Given the description of an element on the screen output the (x, y) to click on. 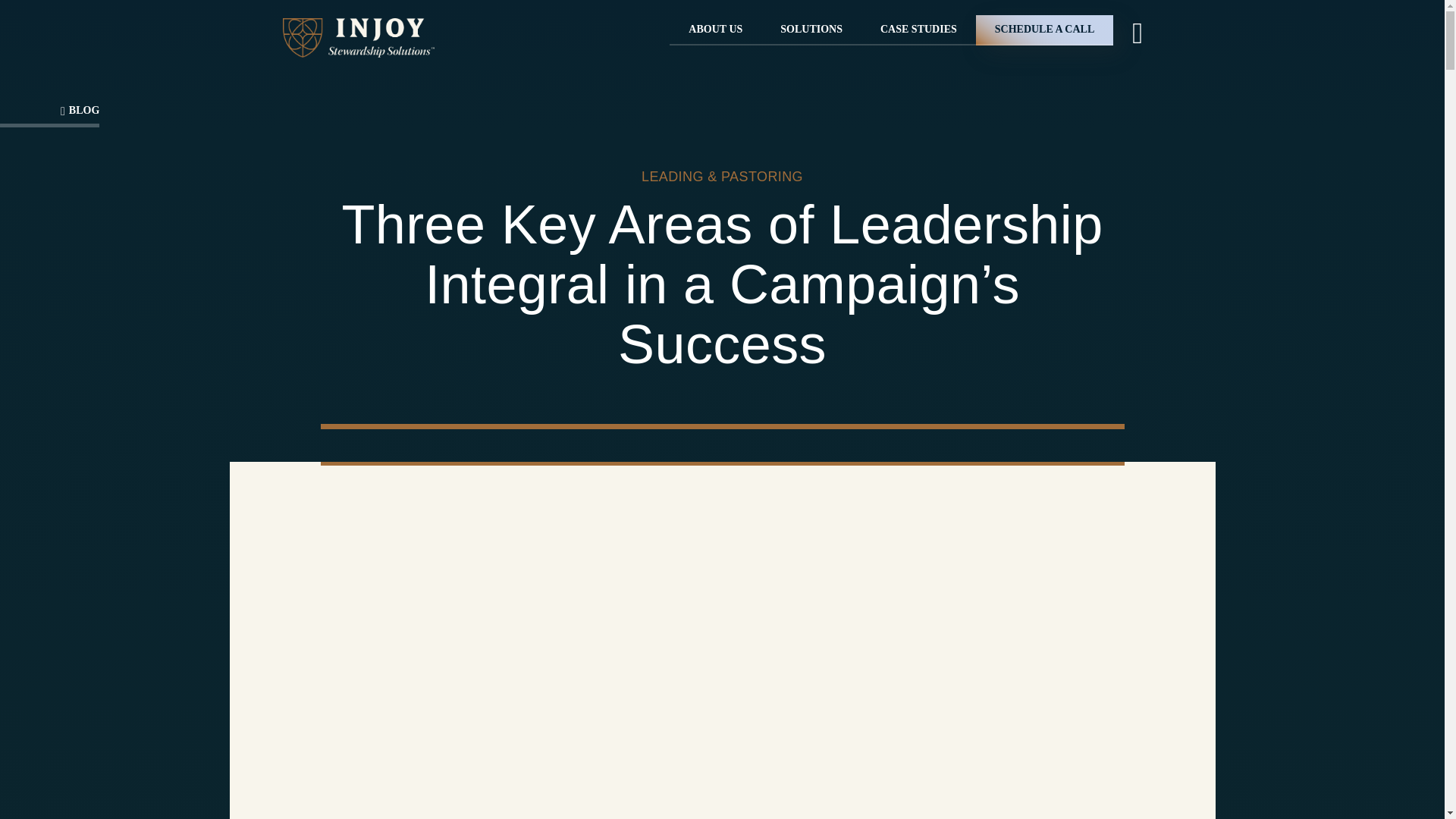
SCHEDULE A CALL (1044, 30)
Injoy Stewardship Solutions (357, 37)
BLOG (57, 109)
CASE STUDIES (918, 30)
ABOUT US (715, 30)
SOLUTIONS (811, 30)
